Given the description of an element on the screen output the (x, y) to click on. 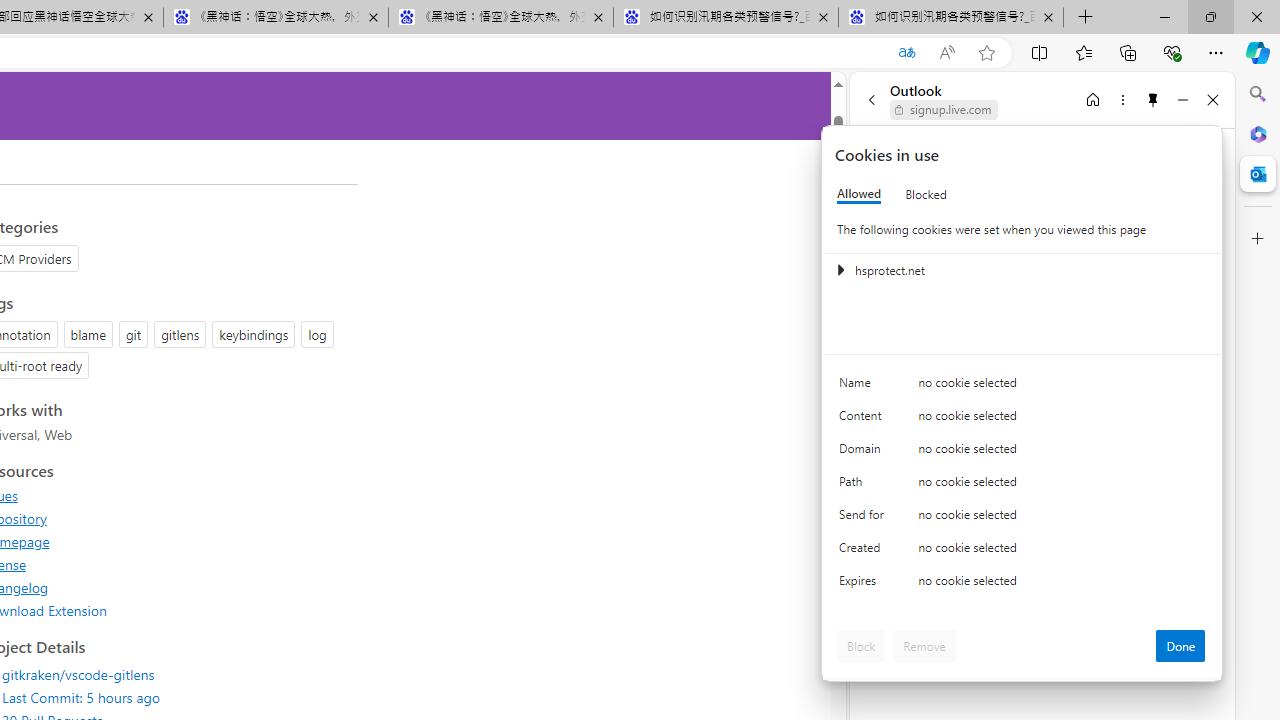
Class: c0153 c0157 (1023, 584)
Domain (864, 452)
Allowed (859, 193)
Remove (924, 645)
Path (864, 485)
Created (864, 552)
Send for (864, 518)
Content (864, 420)
Blocked (925, 193)
Done (1179, 645)
Block (861, 645)
Name (864, 387)
no cookie selected (1062, 585)
Class: c0153 c0157 c0154 (1023, 386)
Expires (864, 585)
